Given the description of an element on the screen output the (x, y) to click on. 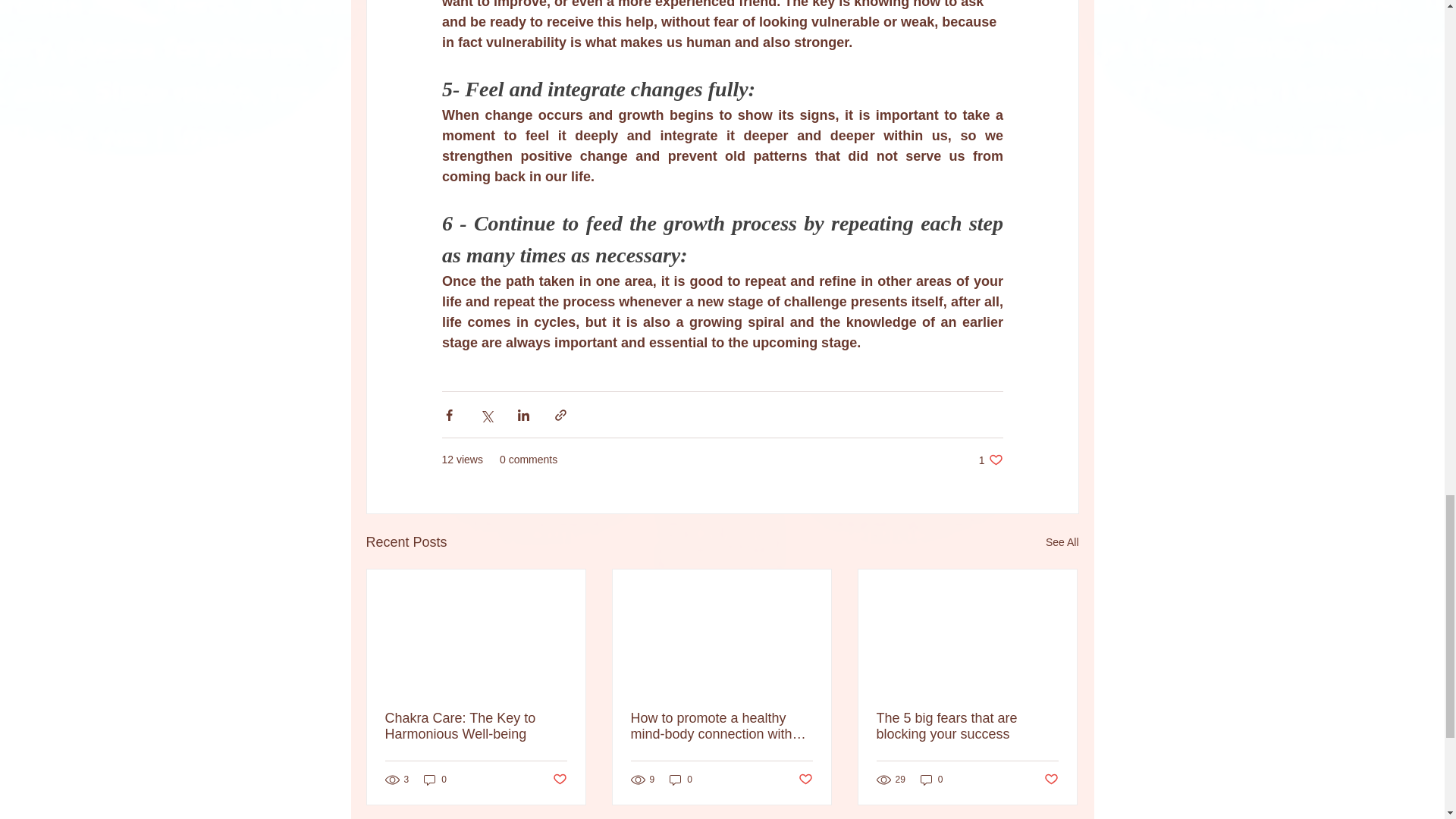
Post not marked as liked (804, 779)
0 (931, 780)
0 (681, 780)
The 5 big fears that are blocking your success (967, 726)
Post not marked as liked (1050, 779)
See All (1061, 542)
Post not marked as liked (558, 779)
Chakra Care: The Key to Harmonious Well-being (476, 726)
